Given the description of an element on the screen output the (x, y) to click on. 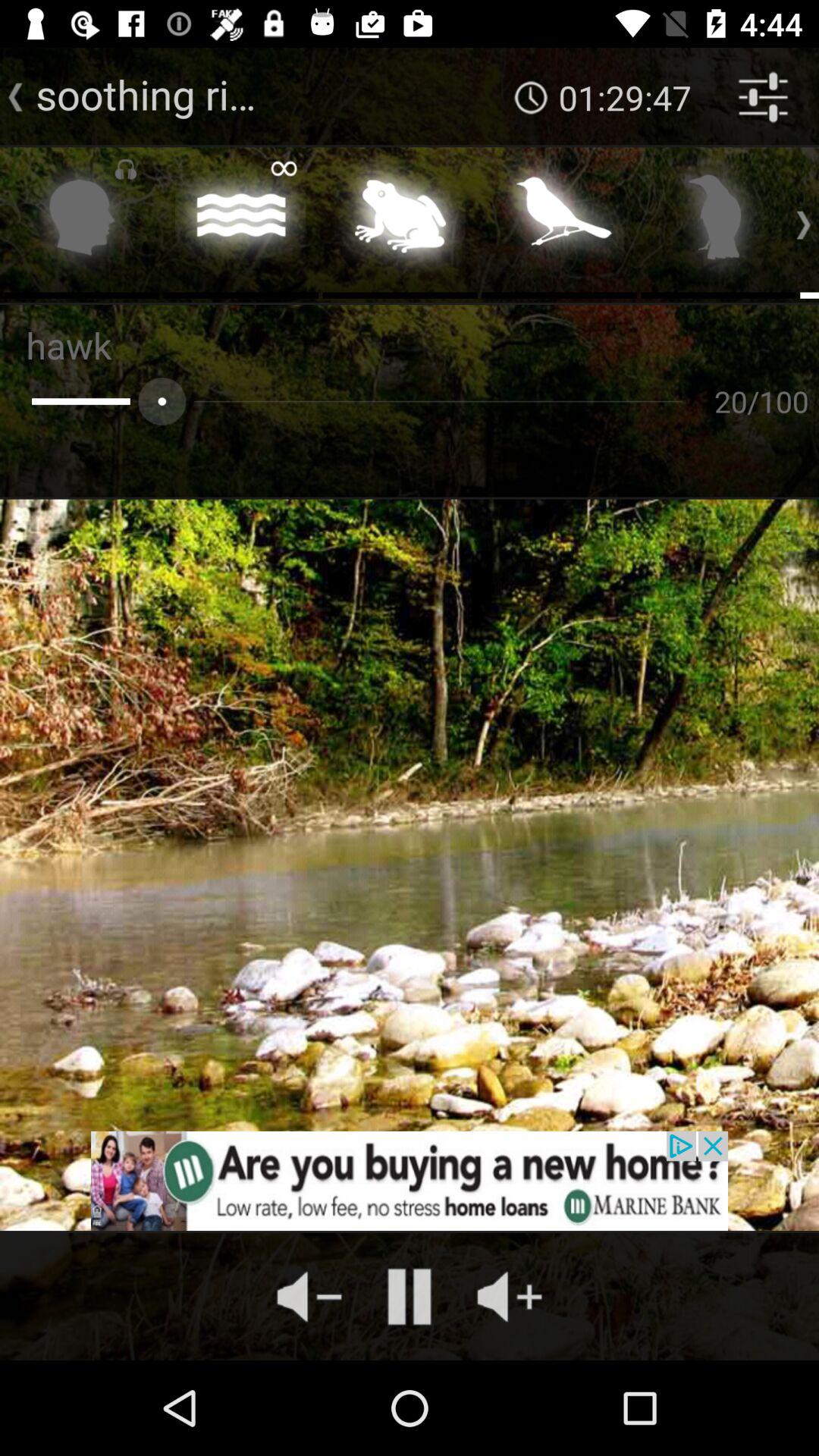
switch frog sound (399, 221)
